Given the description of an element on the screen output the (x, y) to click on. 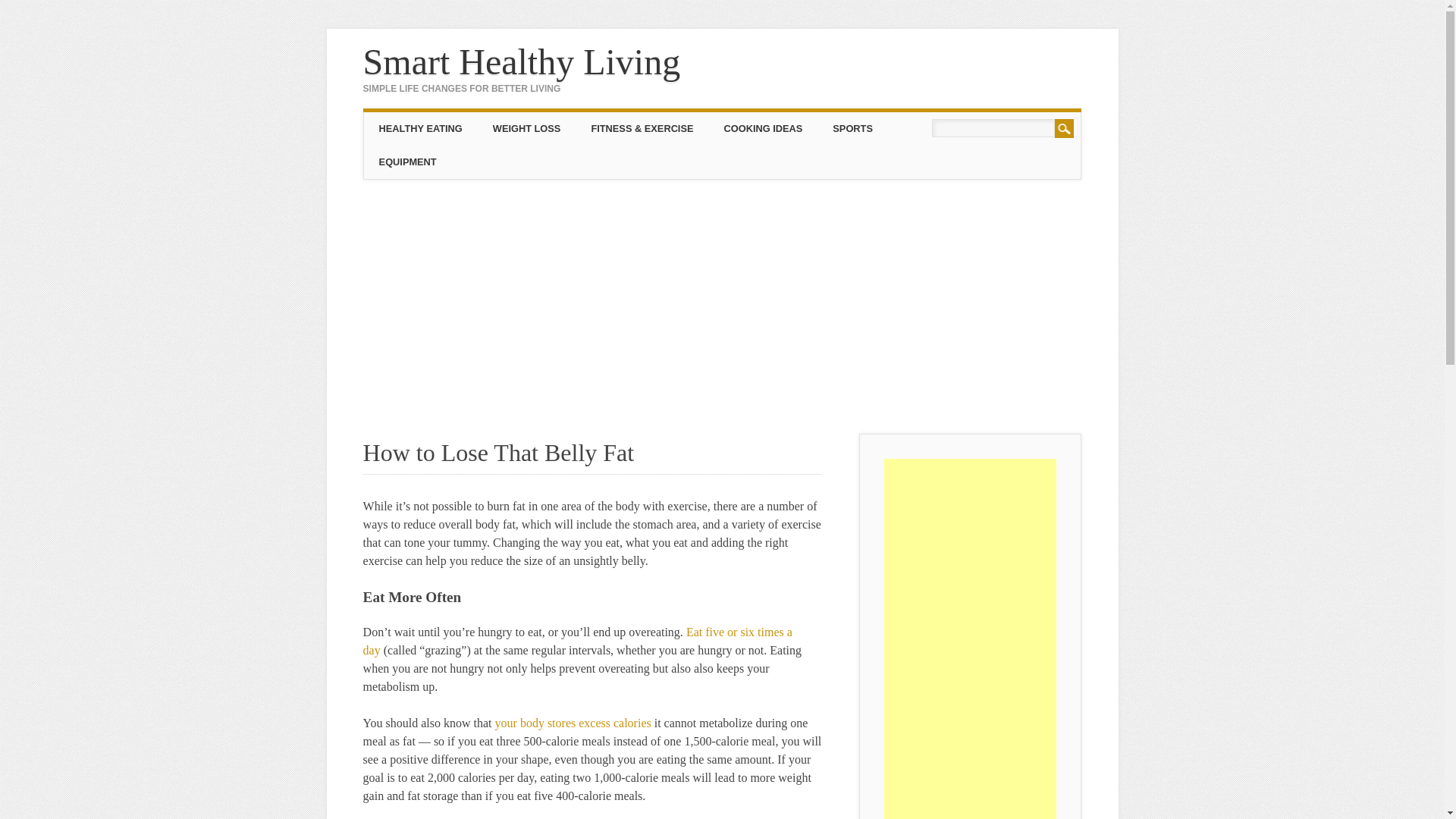
HEALTHY EATING (420, 128)
Smart Healthy Living (521, 61)
EQUIPMENT (407, 162)
Search (1064, 128)
your body stores excess calories (572, 722)
SPORTS (852, 128)
WEIGHT LOSS (526, 128)
Eat five or six times a day (577, 640)
Smart Healthy Living (521, 61)
Search (1064, 128)
